Given the description of an element on the screen output the (x, y) to click on. 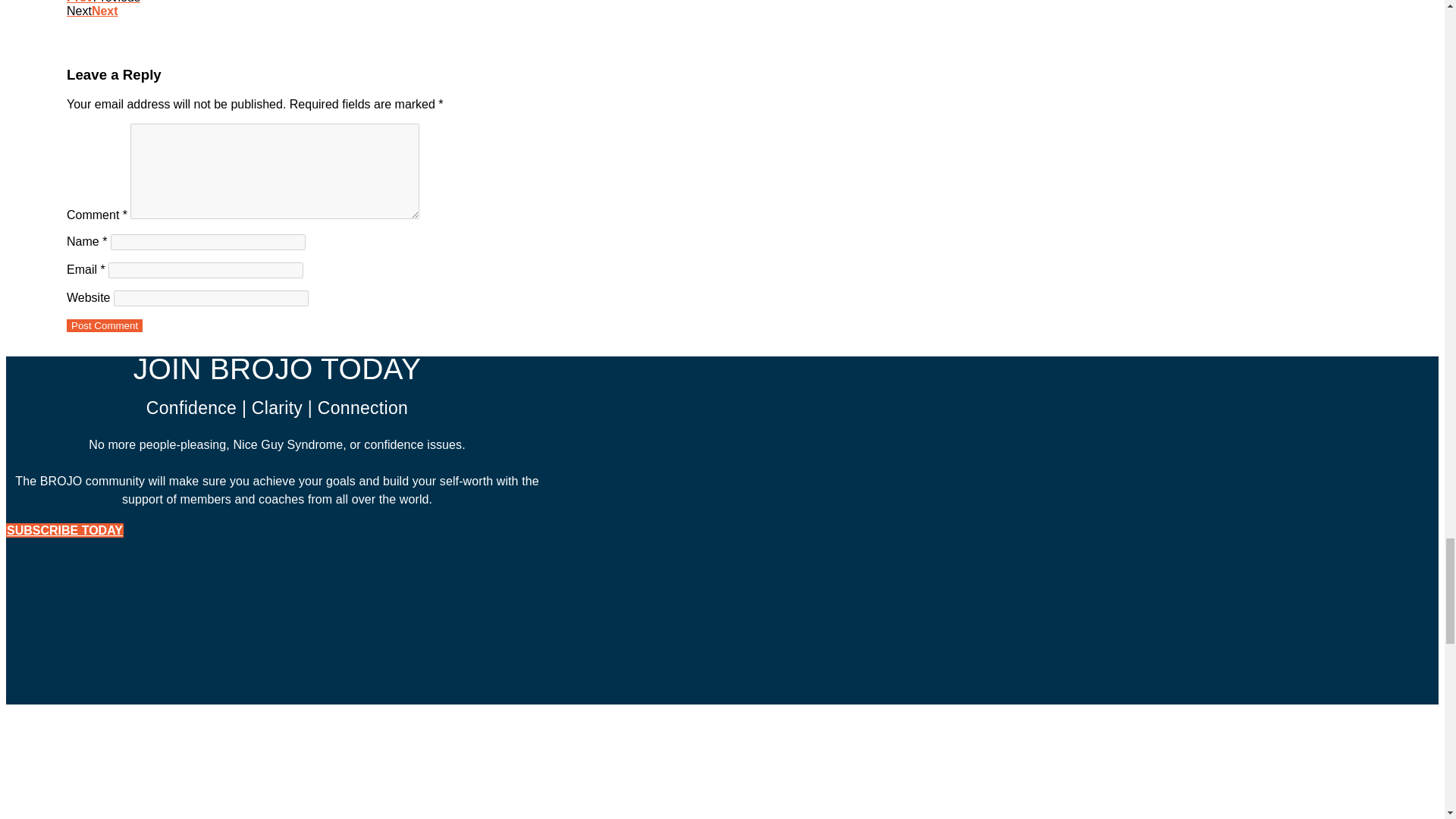
Post Comment (104, 325)
